Given the description of an element on the screen output the (x, y) to click on. 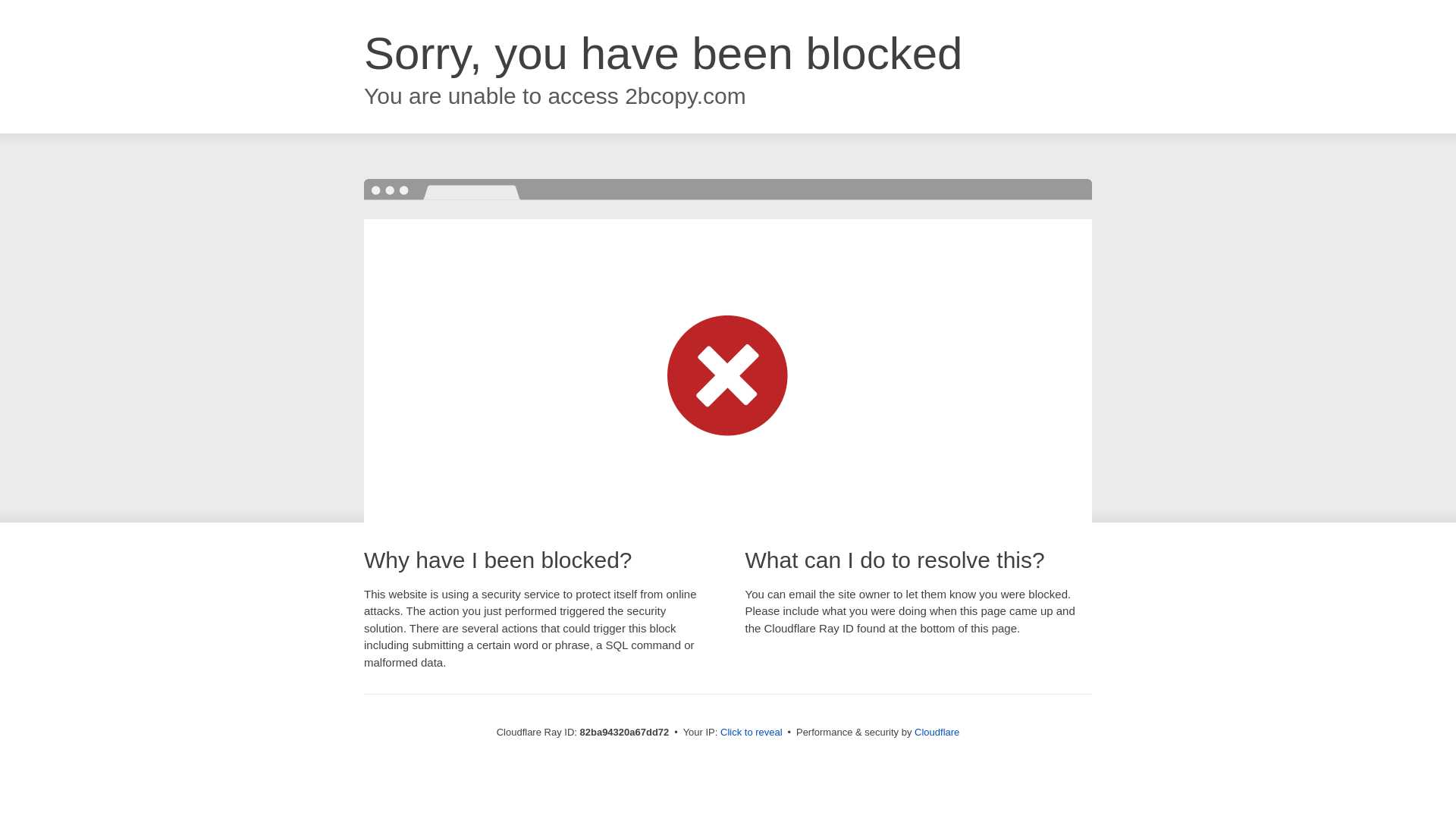
Cloudflare Element type: text (936, 731)
Click to reveal Element type: text (751, 732)
